Given the description of an element on the screen output the (x, y) to click on. 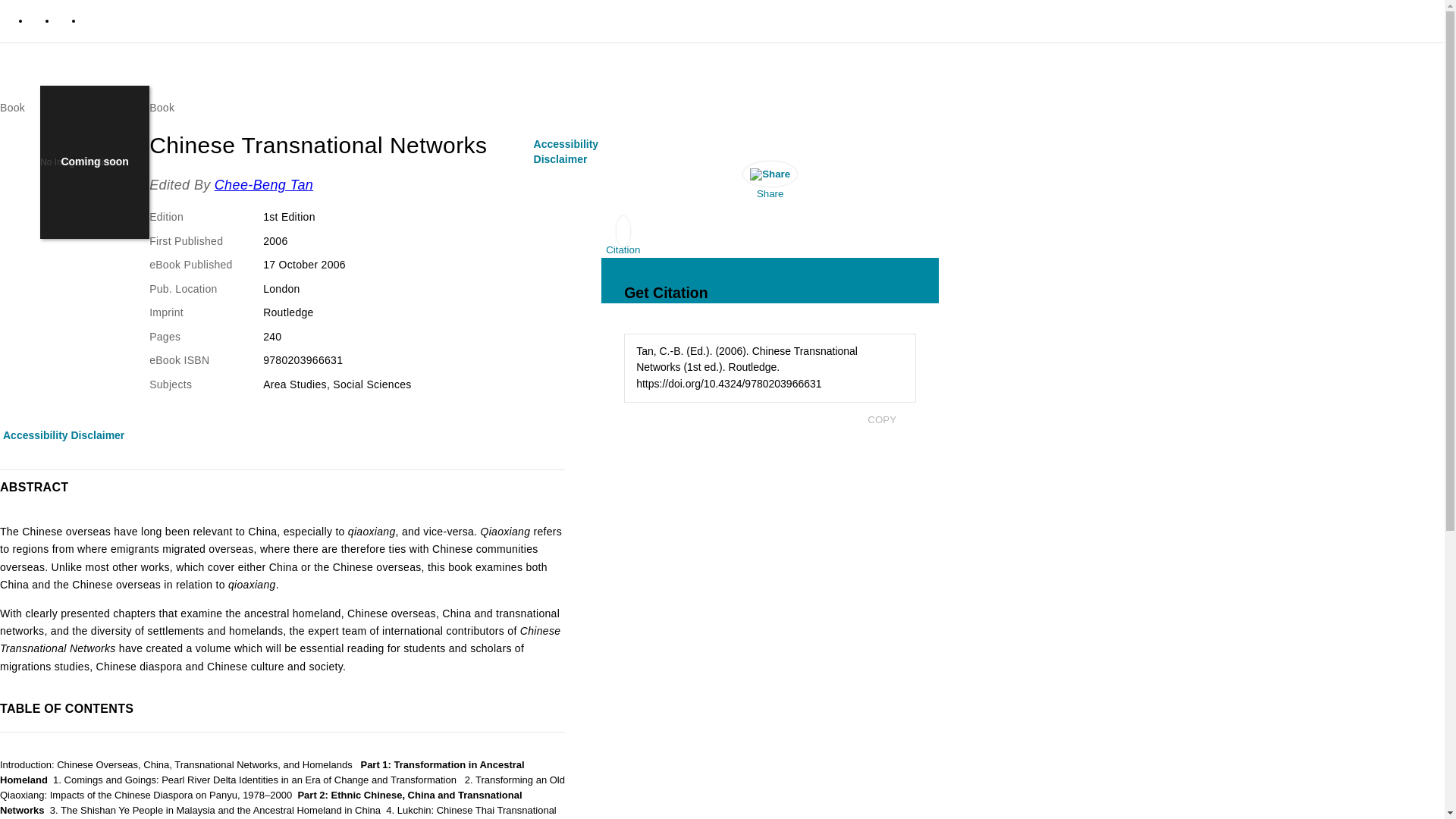
Chee-Beng Tan (264, 184)
COPY (881, 419)
Share (770, 183)
Citation (623, 238)
